Given the description of an element on the screen output the (x, y) to click on. 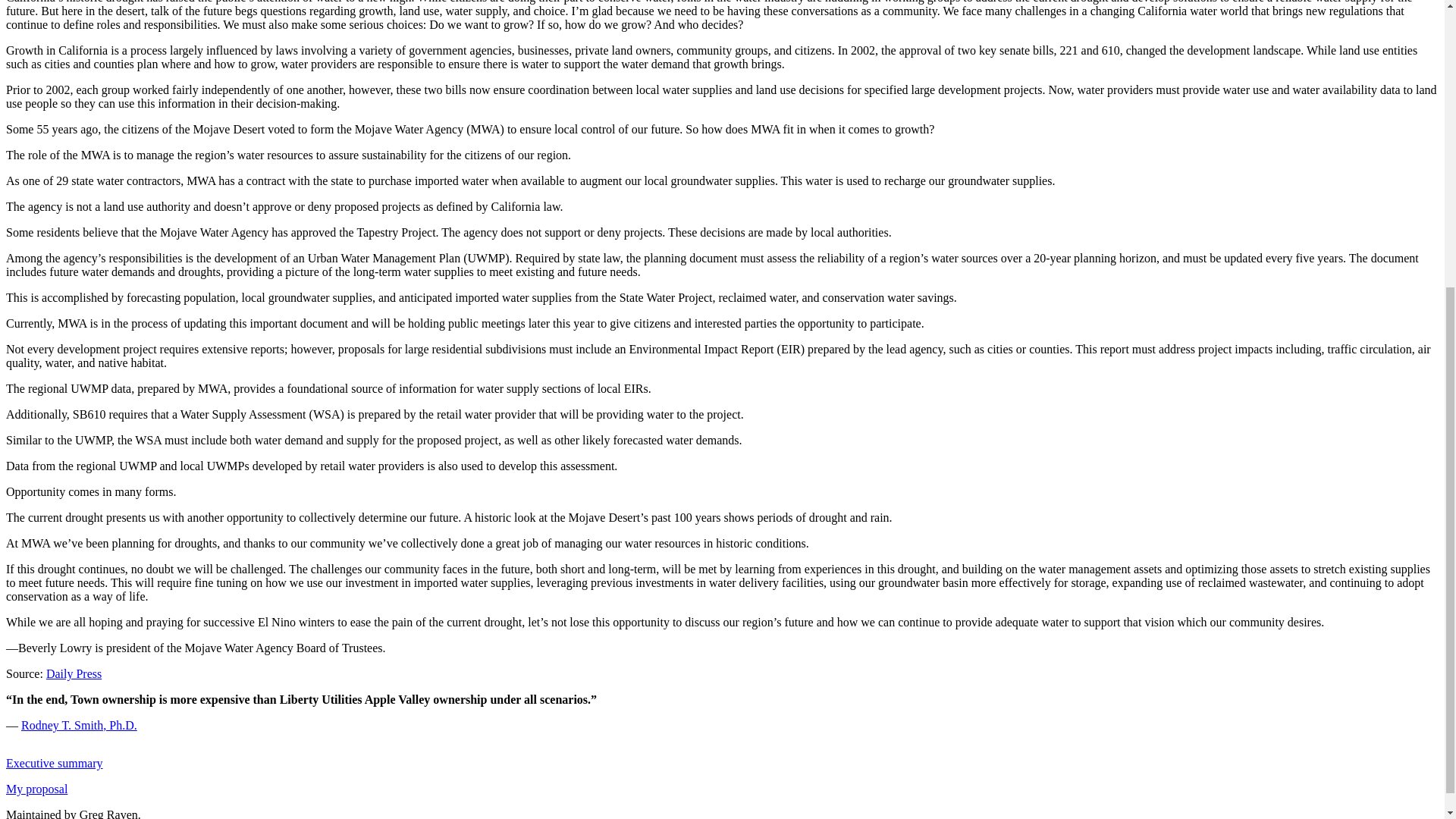
My proposal (35, 788)
Daily Press (73, 673)
Rodney T. Smith, Ph.D. (78, 725)
Executive summary (54, 762)
